Given the description of an element on the screen output the (x, y) to click on. 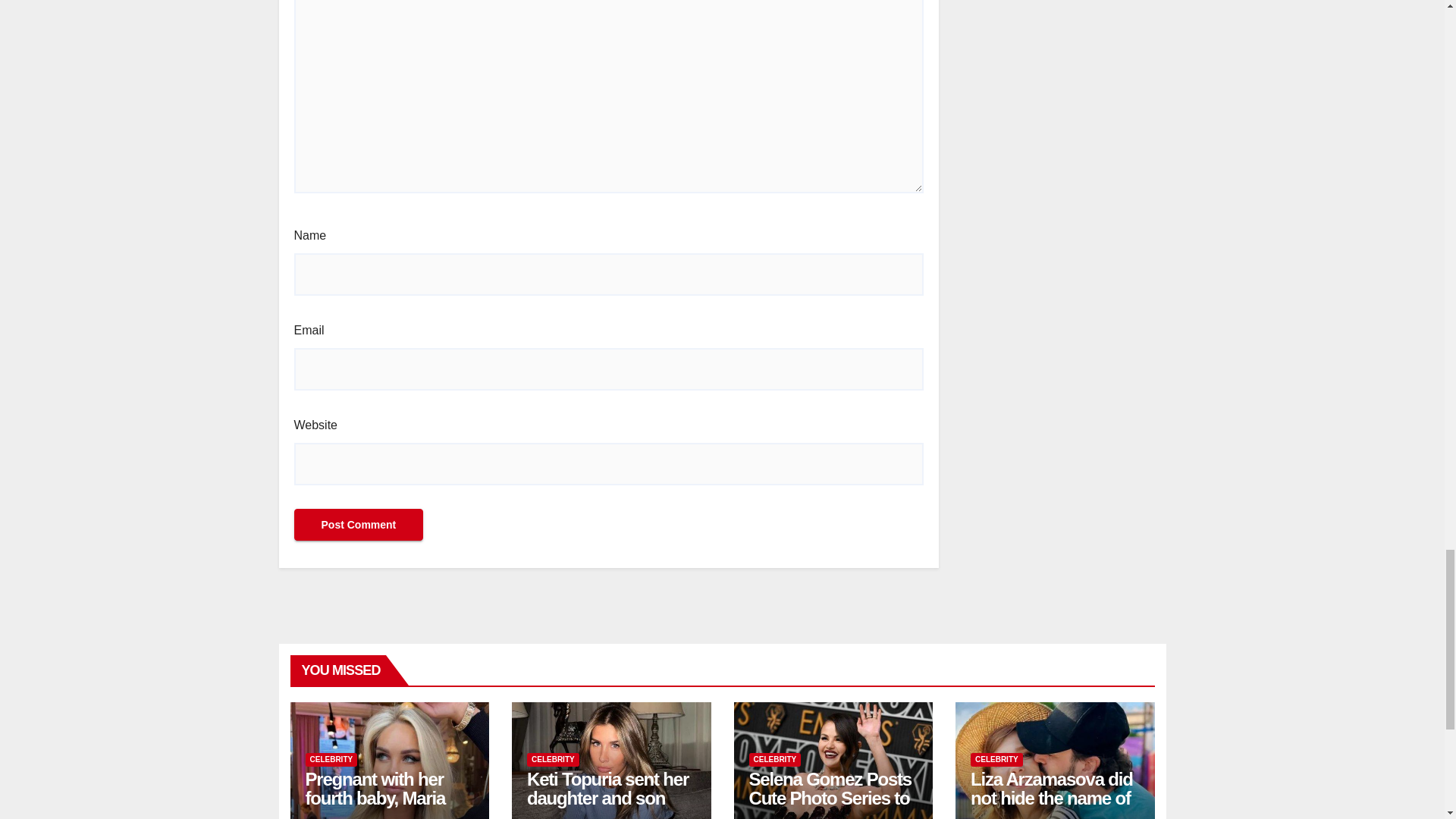
CELEBRITY (330, 759)
CELEBRITY (553, 759)
Post Comment (358, 524)
Post Comment (358, 524)
